Given the description of an element on the screen output the (x, y) to click on. 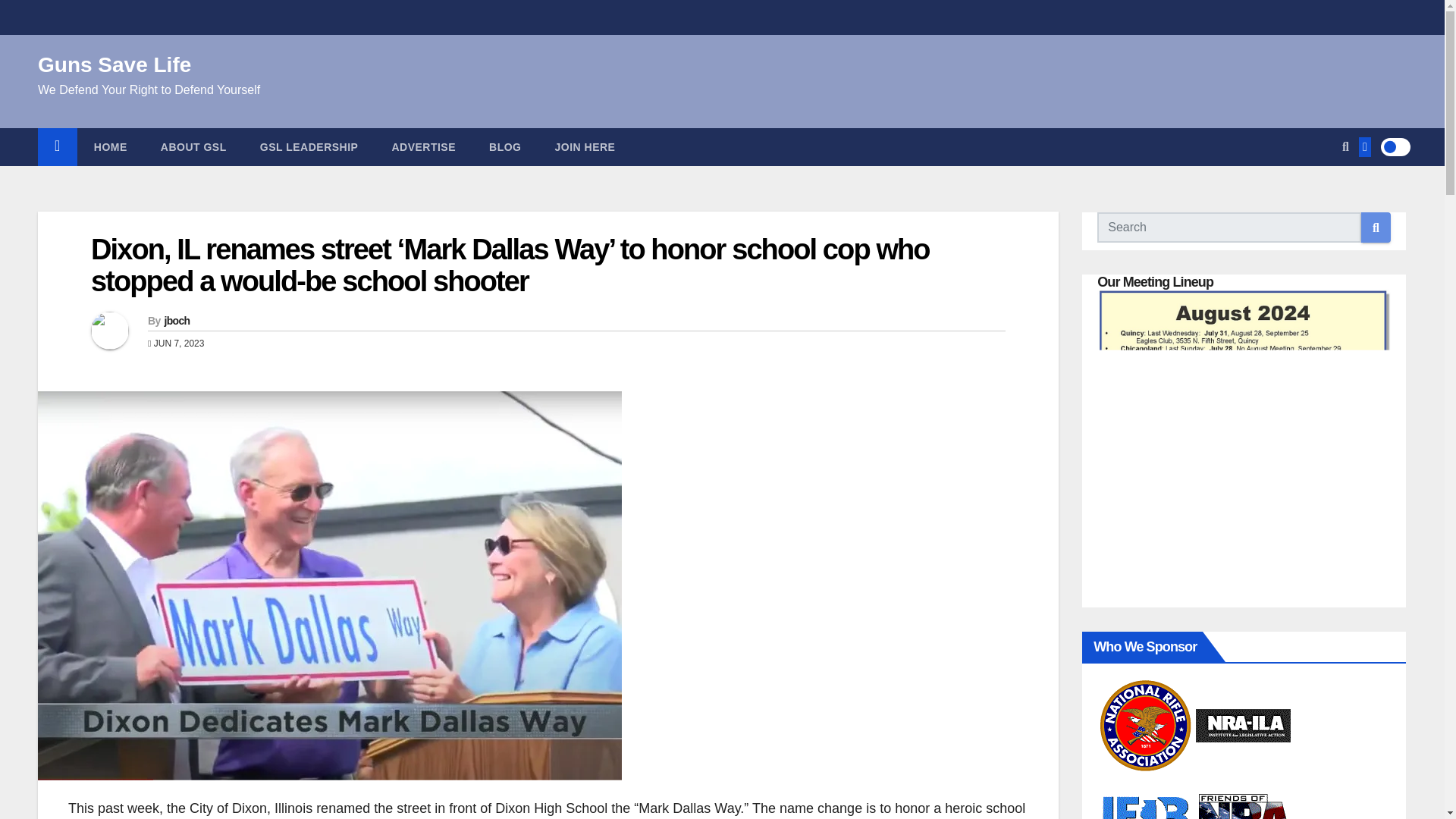
BLOG (504, 146)
JOIN HERE (584, 146)
ADVERTISE (422, 146)
Join here (584, 146)
HOME (110, 146)
About GSL (193, 146)
Home (110, 146)
Home (57, 146)
Guns Save Life (113, 64)
GSL Leadership (309, 146)
